Given the description of an element on the screen output the (x, y) to click on. 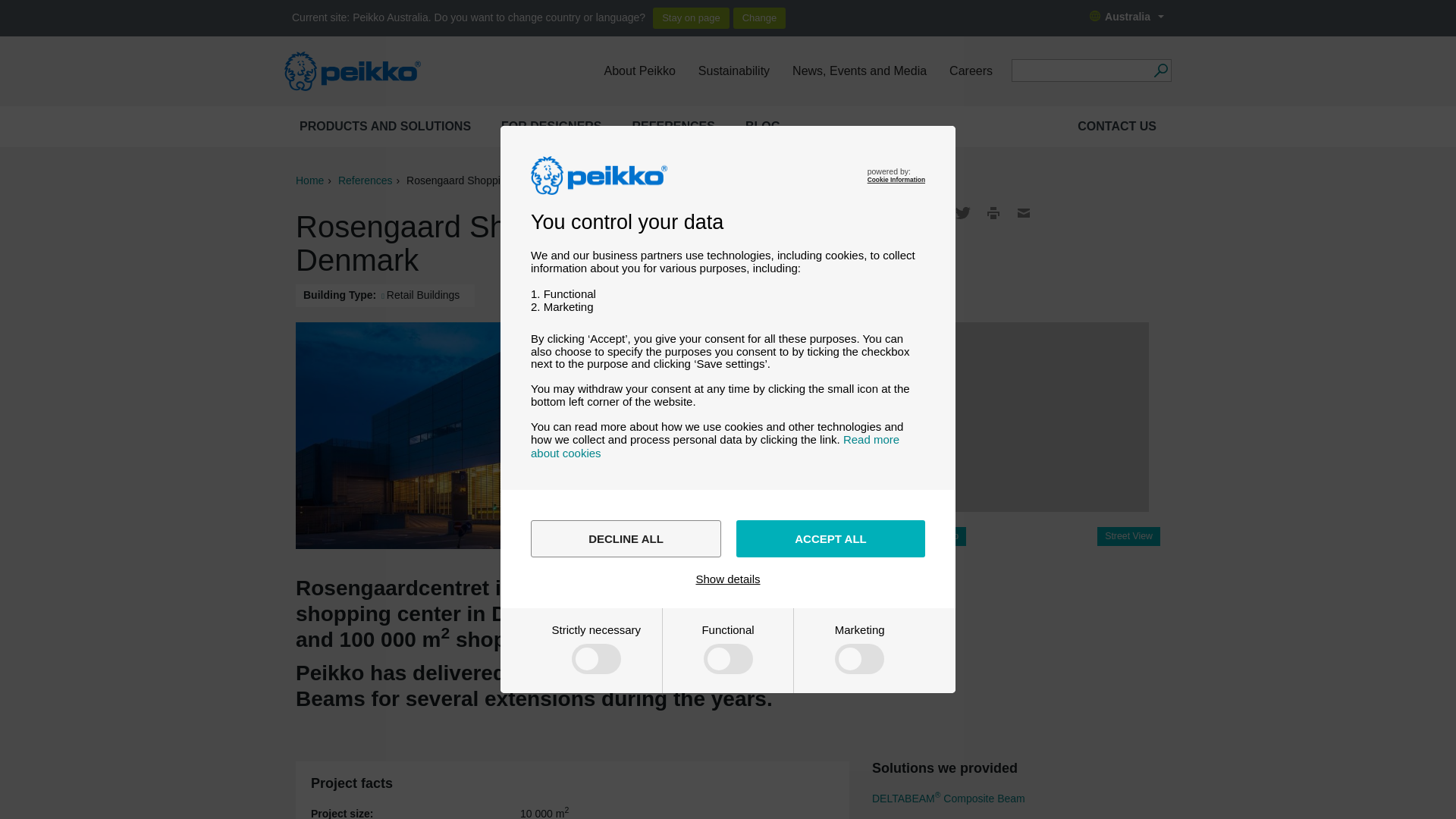
Cookie Information (895, 179)
Show details (727, 578)
ACCEPT ALL (830, 538)
DECLINE ALL (625, 538)
Stay on page (690, 17)
Australia (1126, 16)
Change (759, 17)
Read more about cookies (715, 446)
Email link (1023, 212)
